Given the description of an element on the screen output the (x, y) to click on. 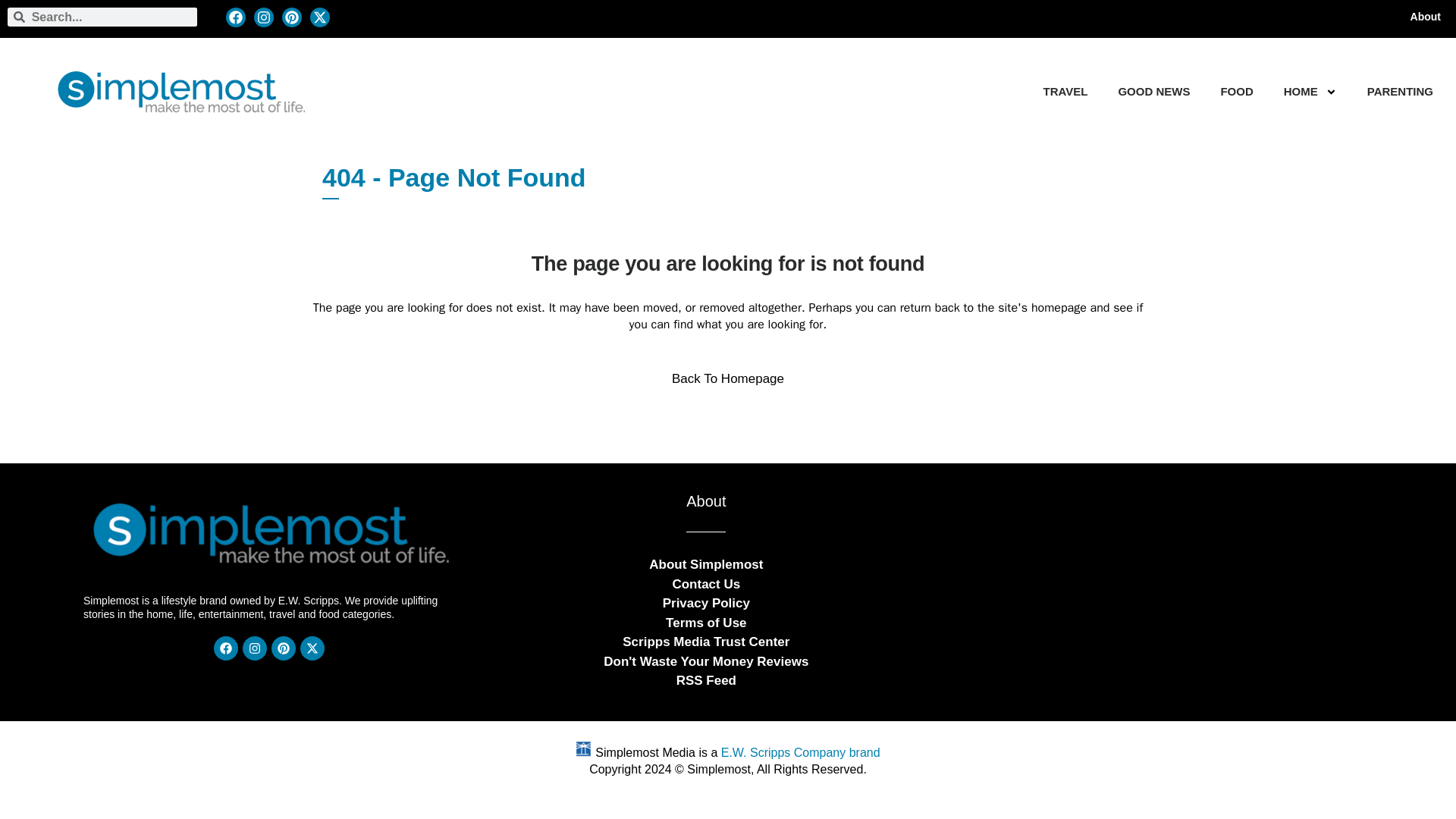
Contact Us (705, 584)
About (1425, 16)
Privacy Policy (705, 602)
GOOD NEWS (1153, 91)
HOME (1300, 91)
Back To Homepage (727, 379)
FOOD (1236, 91)
TRAVEL (1065, 91)
About Simplemost (705, 564)
Don't Waste Your Money Reviews (706, 661)
